Given the description of an element on the screen output the (x, y) to click on. 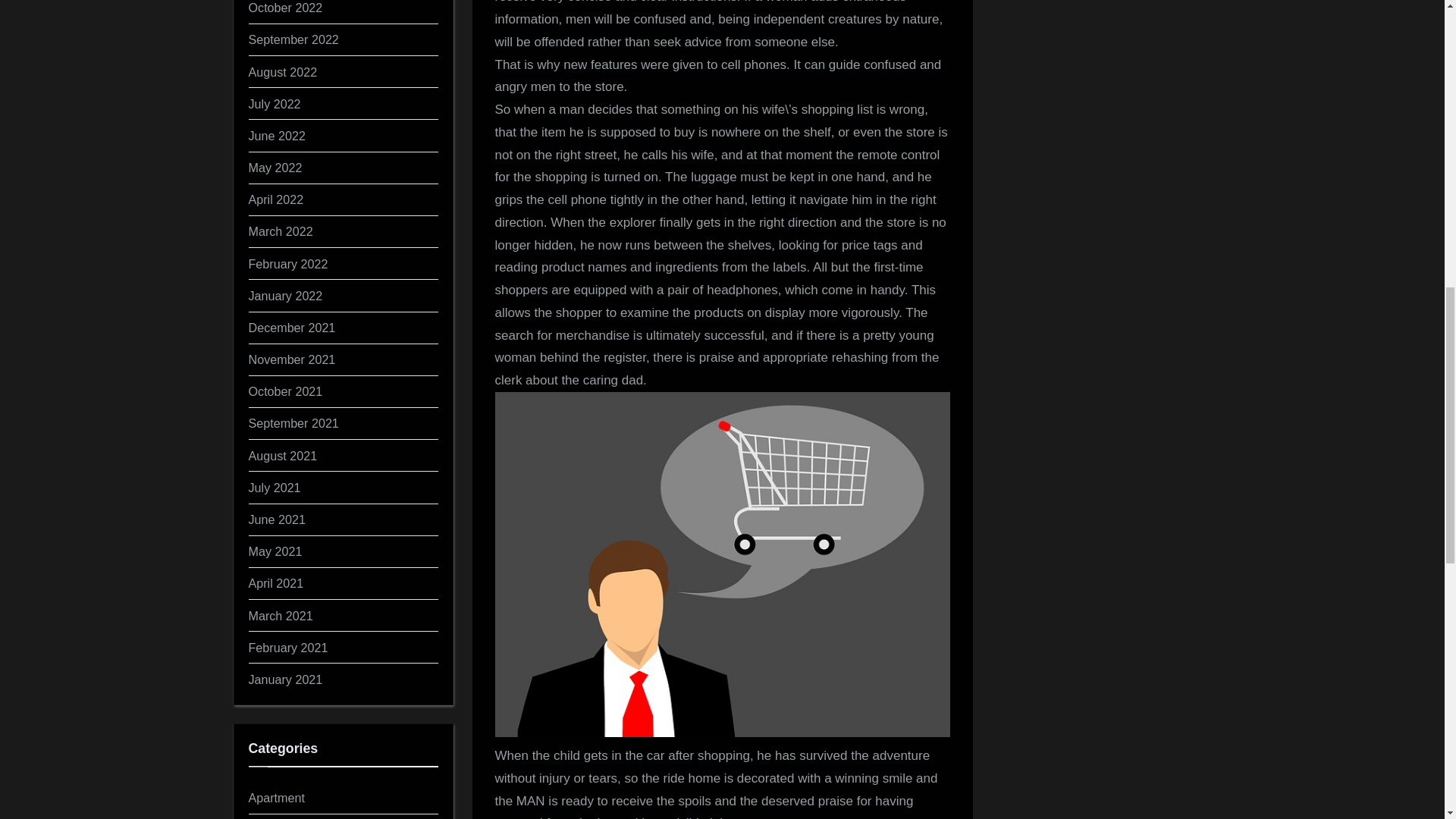
October 2022 (285, 7)
September 2022 (293, 38)
August 2022 (282, 71)
